Given the description of an element on the screen output the (x, y) to click on. 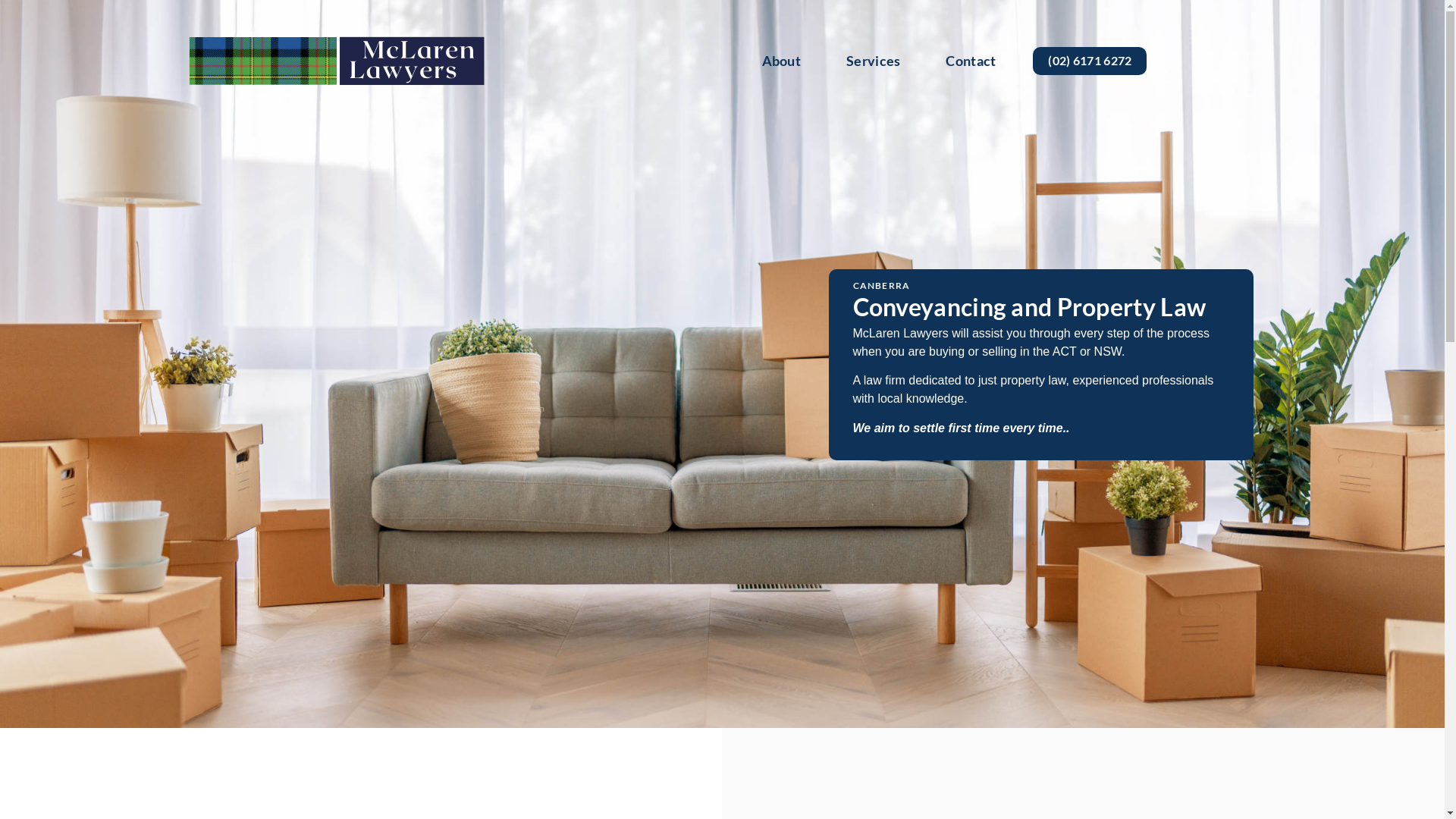
Contact Element type: text (970, 60)
Conveyancing and Property Law Element type: text (1028, 306)
(02) 6171 6272 Element type: text (1089, 60)
About Element type: text (781, 60)
Services Element type: text (873, 60)
